Given the description of an element on the screen output the (x, y) to click on. 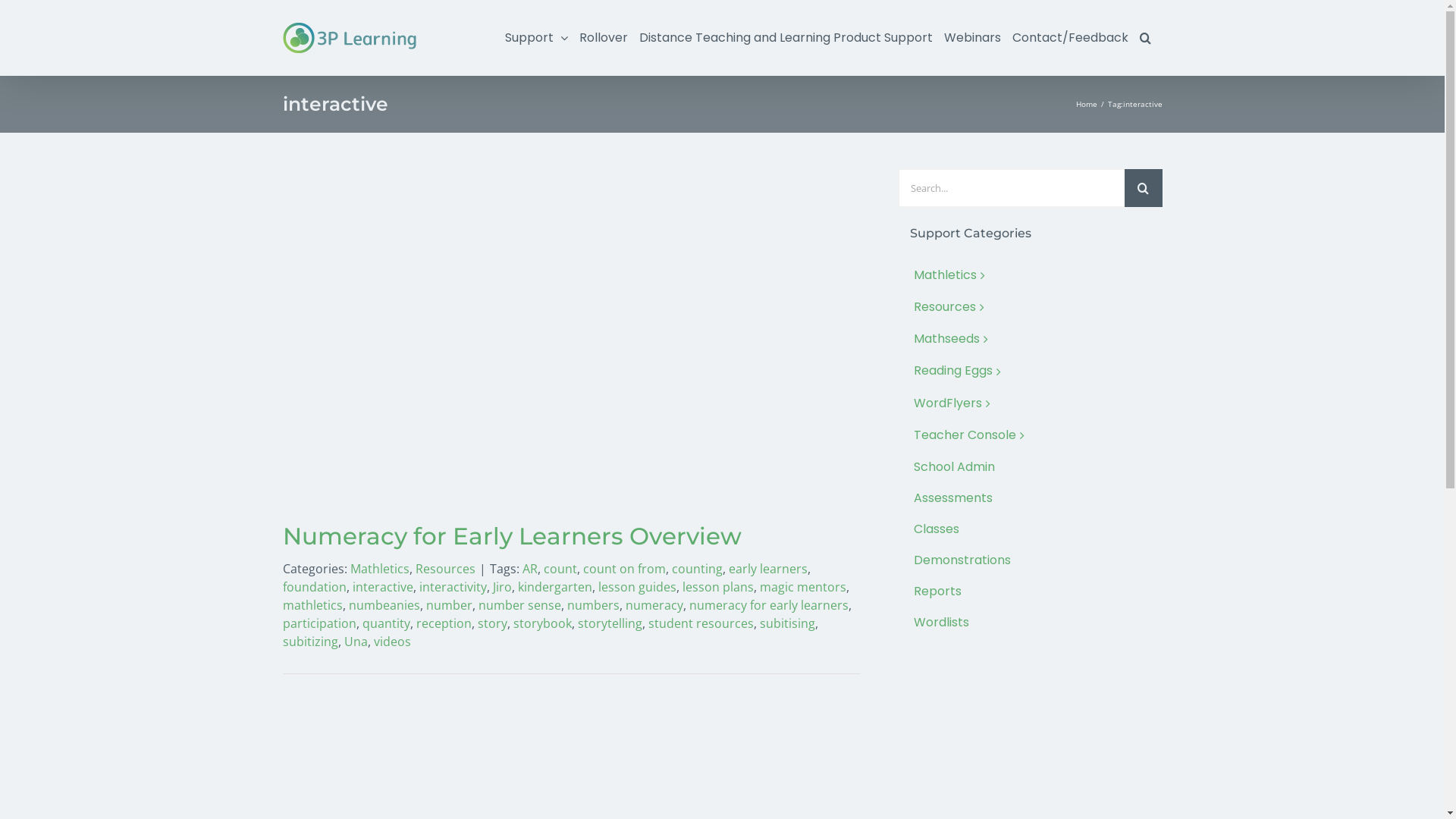
Numeracy for Early Learners Overview Element type: text (511, 535)
student resources Element type: text (700, 623)
counting Element type: text (696, 568)
Reports Element type: text (1029, 591)
Jiro Element type: text (501, 586)
Resources Element type: text (1029, 307)
Webinars Element type: text (971, 37)
numeracy for early learners Element type: text (767, 604)
subitizing Element type: text (309, 641)
quantity Element type: text (386, 623)
story Element type: text (492, 623)
count Element type: text (559, 568)
Distance Teaching and Learning Product Support Element type: text (784, 37)
reception Element type: text (442, 623)
Reading Eggs Element type: text (1029, 371)
Teacher Console Element type: text (1029, 435)
interactivity Element type: text (452, 586)
participation Element type: text (318, 623)
Wordlists Element type: text (1029, 622)
number Element type: text (449, 604)
Resources Element type: text (445, 568)
Classes Element type: text (1029, 529)
storytelling Element type: text (609, 623)
Mathletics Element type: text (379, 568)
numeracy Element type: text (653, 604)
Rollover Element type: text (603, 37)
early learners Element type: text (767, 568)
lesson plans Element type: text (717, 586)
subitising Element type: text (787, 623)
number sense Element type: text (518, 604)
AR Element type: text (528, 568)
storybook Element type: text (541, 623)
videos Element type: text (391, 641)
Demonstrations Element type: text (1029, 560)
Assessments Element type: text (1029, 498)
School Admin Element type: text (1029, 467)
interactive Element type: text (381, 586)
magic mentors Element type: text (802, 586)
kindergarten Element type: text (554, 586)
Support Element type: text (536, 37)
Search Element type: hover (1144, 37)
mathletics Element type: text (312, 604)
numbers Element type: text (593, 604)
WordFlyers Element type: text (1029, 404)
numbeanies Element type: text (384, 604)
Mathseeds Element type: text (1029, 339)
count on from Element type: text (623, 568)
Home Element type: text (1085, 103)
Una Element type: text (355, 641)
Mathletics Element type: text (1029, 275)
lesson guides Element type: text (636, 586)
foundation Element type: text (313, 586)
Contact/Feedback Element type: text (1069, 37)
